Given the description of an element on the screen output the (x, y) to click on. 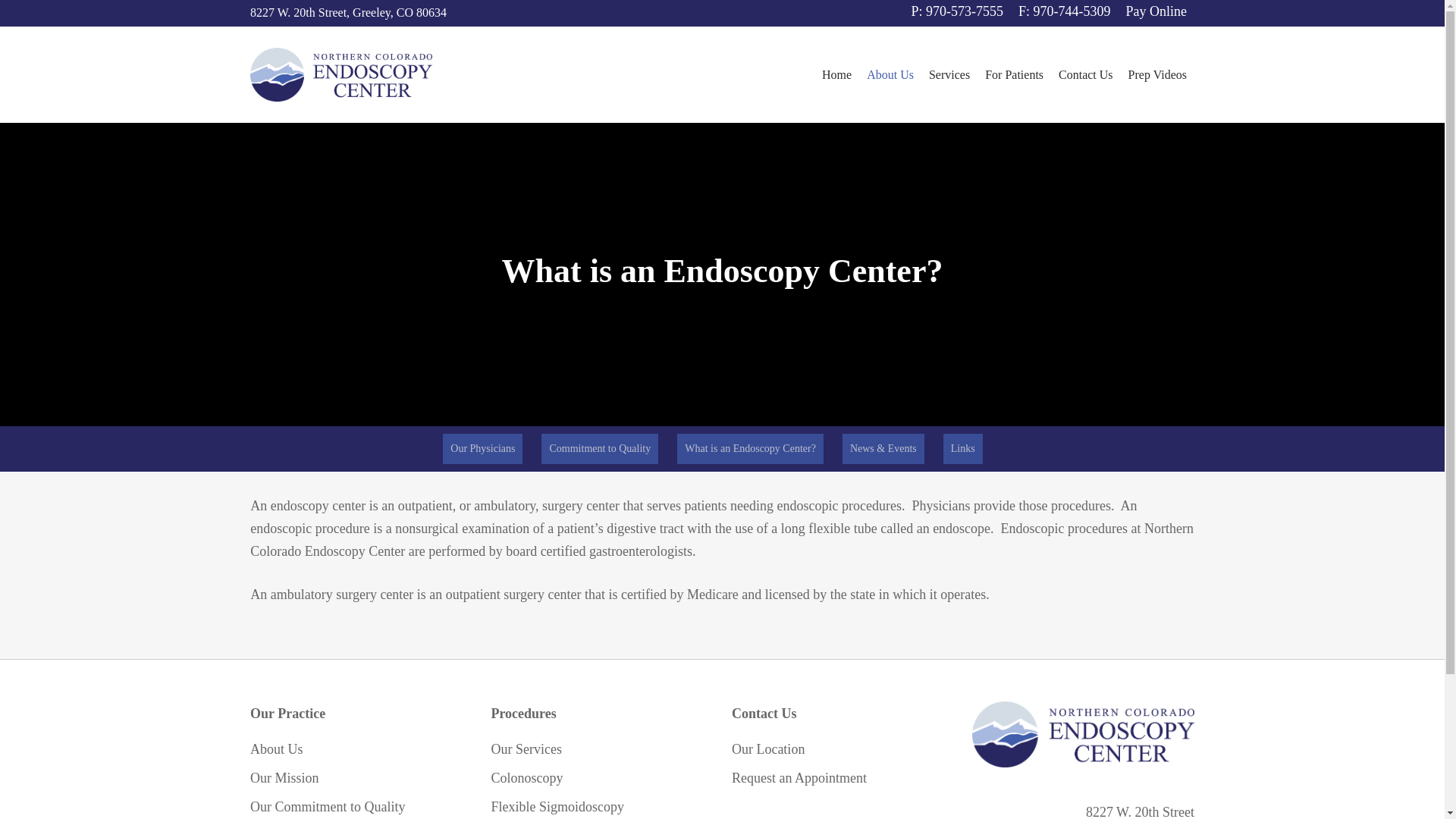
Home (836, 74)
P: 970-573-7555 (957, 11)
Services (948, 74)
About Us (890, 74)
For Patients (1013, 74)
Contact Us (1086, 74)
F: 970-744-5309 (1064, 11)
Prep Videos (1157, 74)
Pay Online (1155, 11)
